Given the description of an element on the screen output the (x, y) to click on. 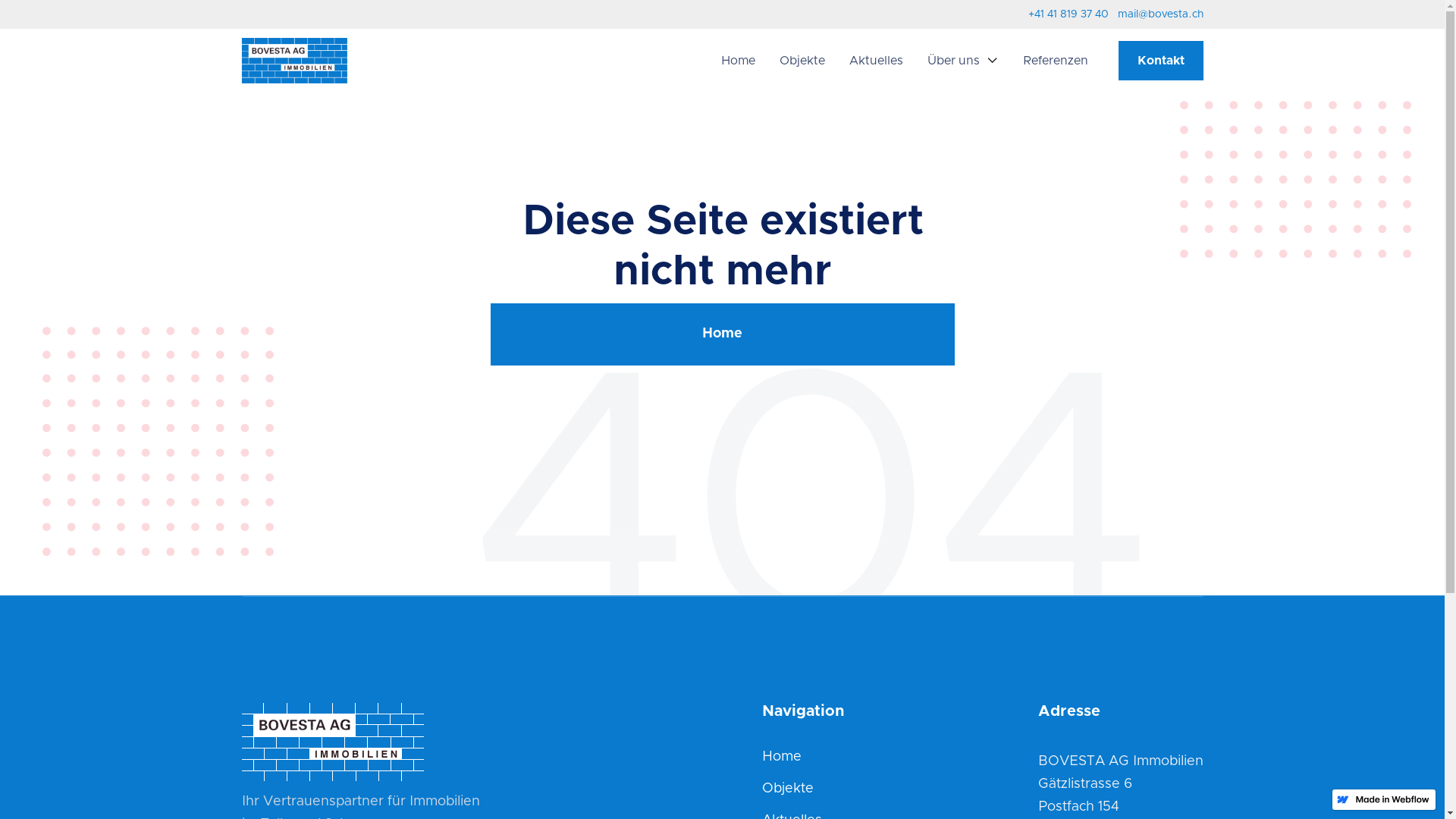
+41 41 819 37 40 Element type: text (1068, 14)
Home Element type: text (737, 60)
Objekte Element type: text (802, 60)
Referenzen Element type: text (1054, 60)
Kontakt Element type: text (1159, 60)
Objekte Element type: text (787, 789)
Home Element type: text (781, 757)
Home Element type: text (721, 334)
Aktuelles Element type: text (876, 60)
mail@bovesta.ch Element type: text (1160, 14)
